Given the description of an element on the screen output the (x, y) to click on. 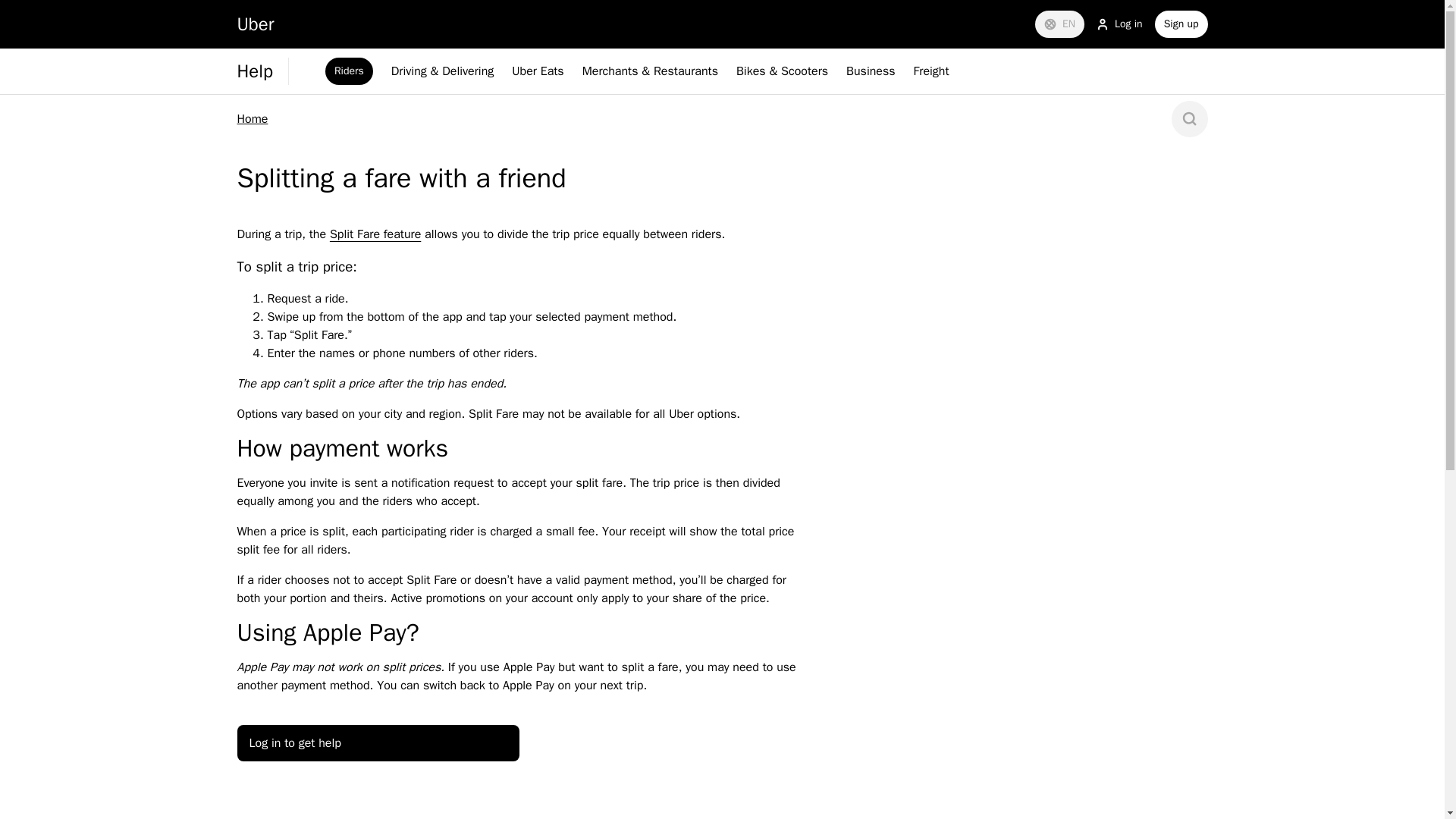
EN (1059, 23)
Uber (254, 24)
Sign up (1181, 23)
Log in (1119, 23)
